Given the description of an element on the screen output the (x, y) to click on. 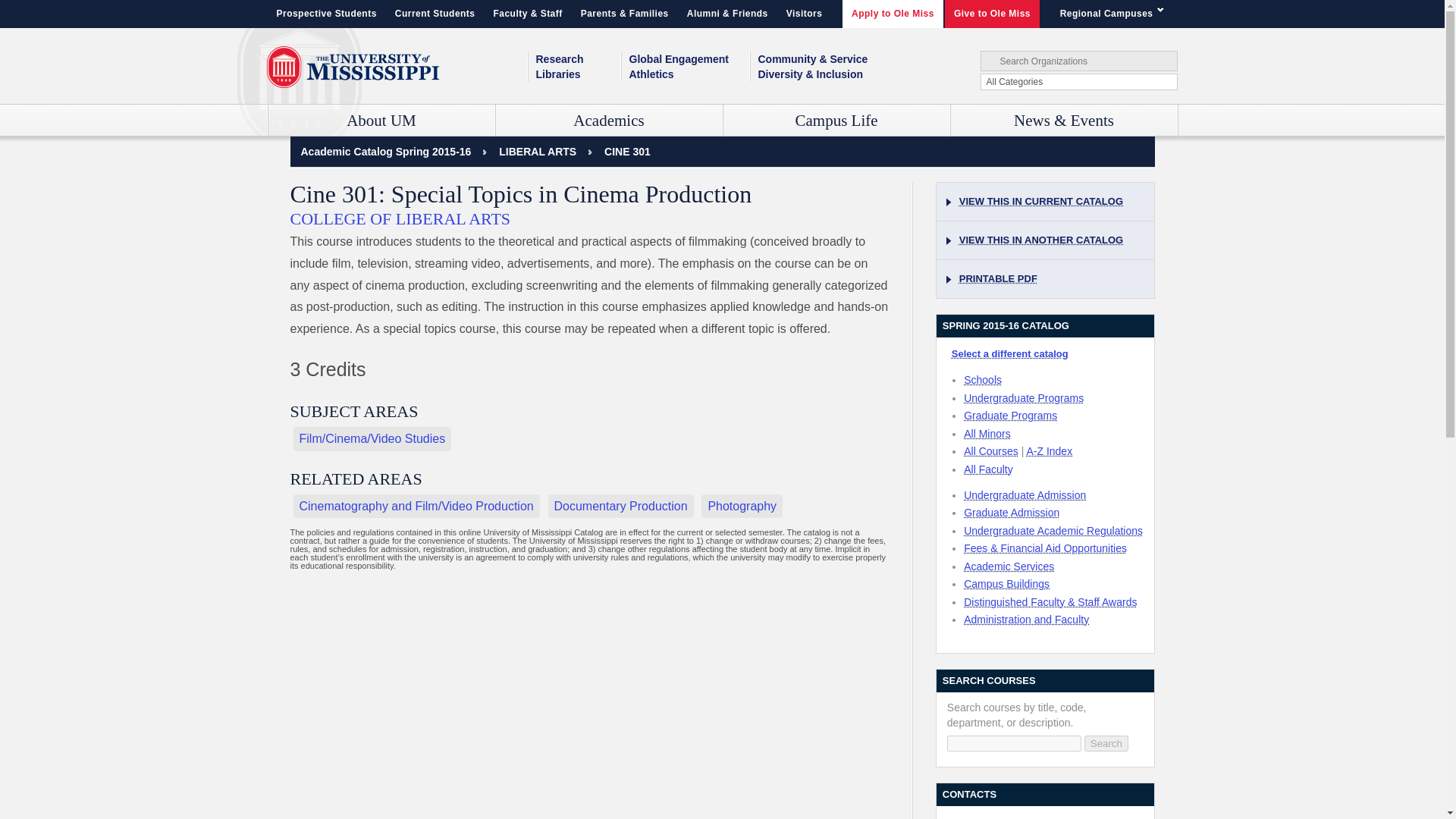
Libraries (577, 73)
About UM (381, 120)
Current Students (434, 13)
Special Topics in Cinema Production (627, 151)
Academics (609, 120)
Athletics (688, 73)
Search (1106, 743)
Campus Life (836, 120)
Regional Campuses (1114, 13)
Give to Ole Miss (991, 13)
